Given the description of an element on the screen output the (x, y) to click on. 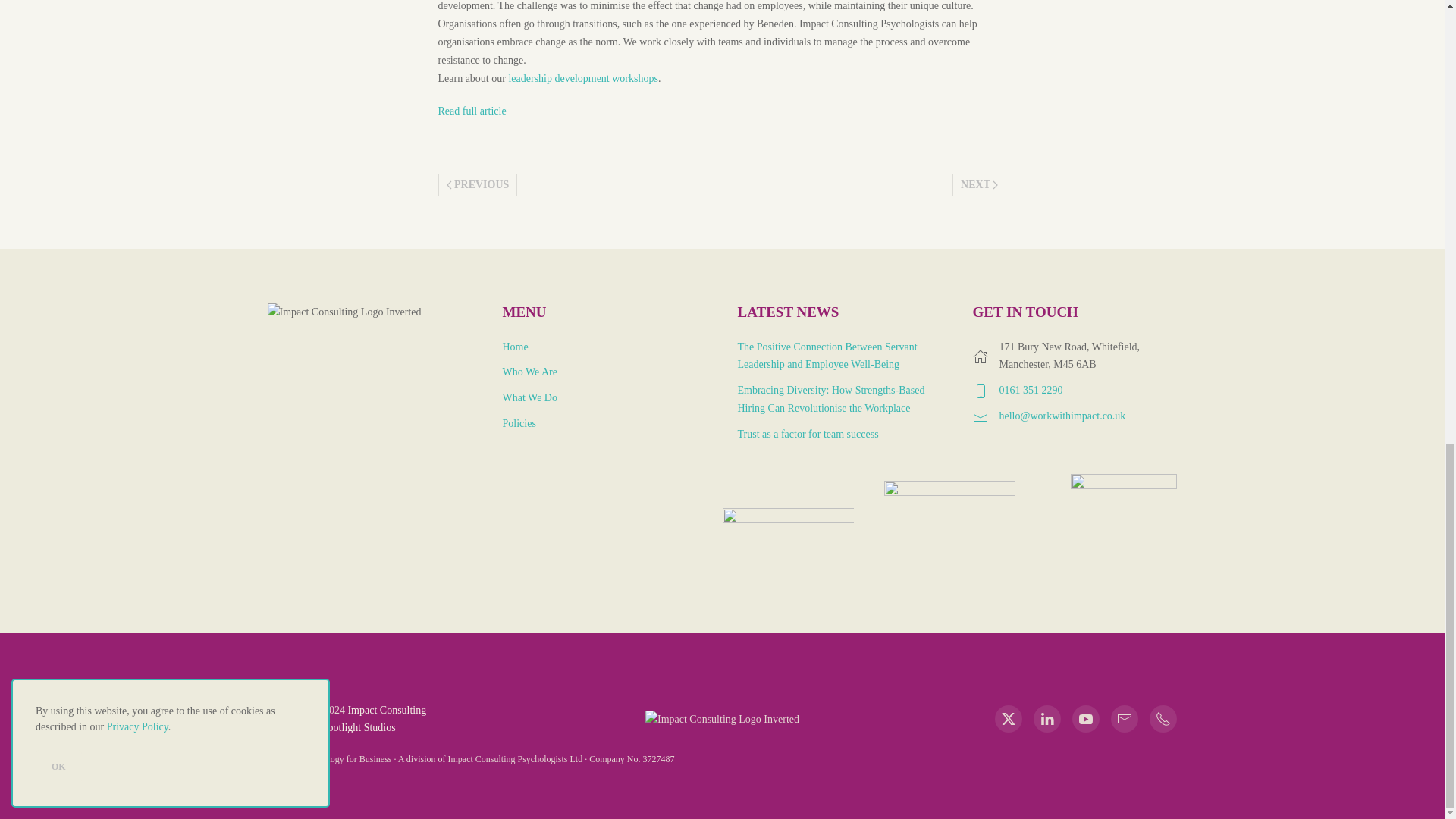
Web Design by Spotlight Studios (358, 727)
Impact Consulting (386, 709)
Leadership development workshops (583, 78)
